Given the description of an element on the screen output the (x, y) to click on. 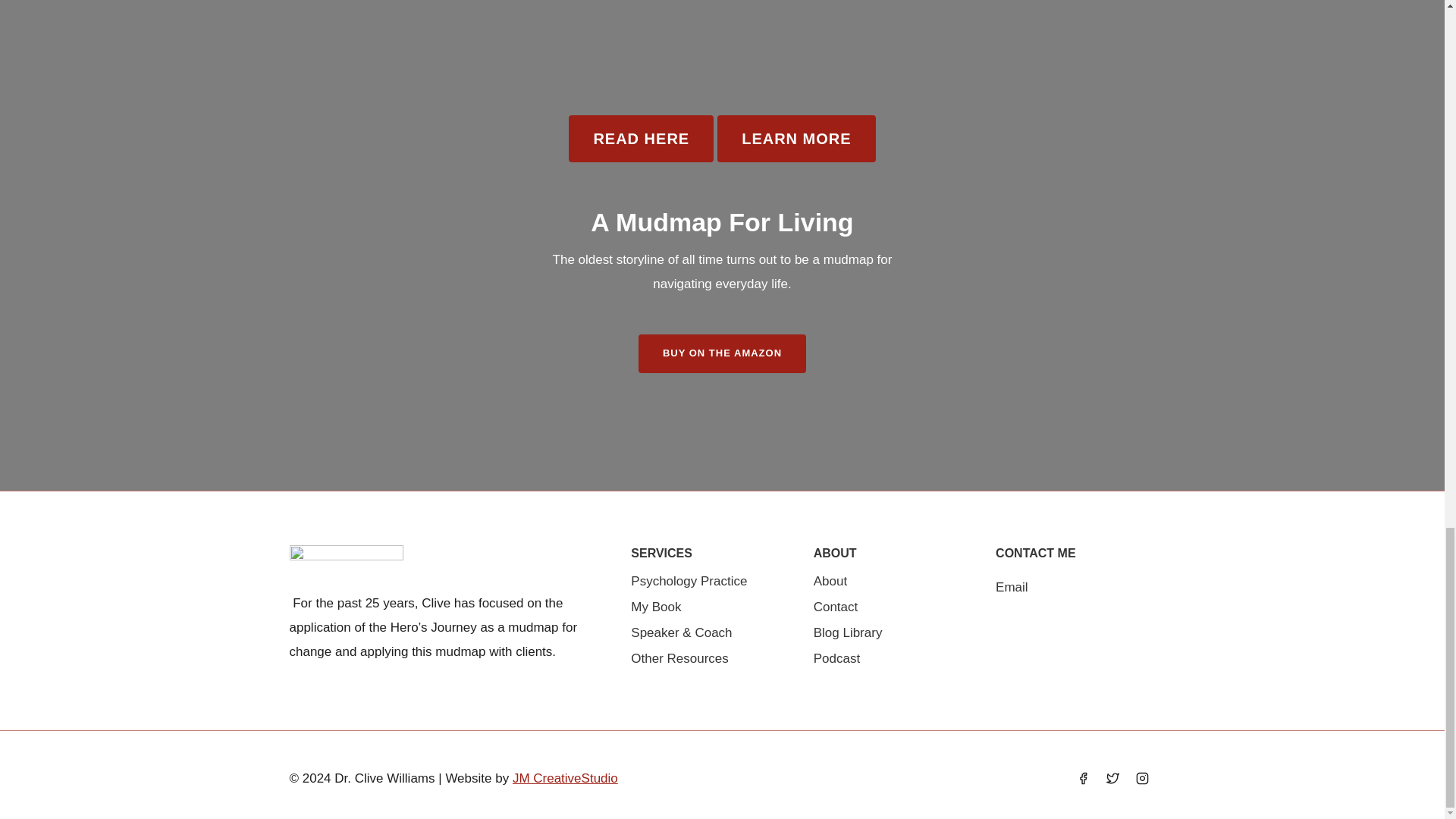
My Book (710, 606)
LEARN MORE (796, 138)
Email (1011, 586)
BUY ON THE AMAZON (722, 353)
Contact (892, 606)
About (892, 581)
READ HERE (641, 138)
Blog Library (892, 632)
Other Resources (710, 658)
Podcast (892, 658)
Psychology Practice (710, 581)
JM CreativeStudio (564, 778)
